Given the description of an element on the screen output the (x, y) to click on. 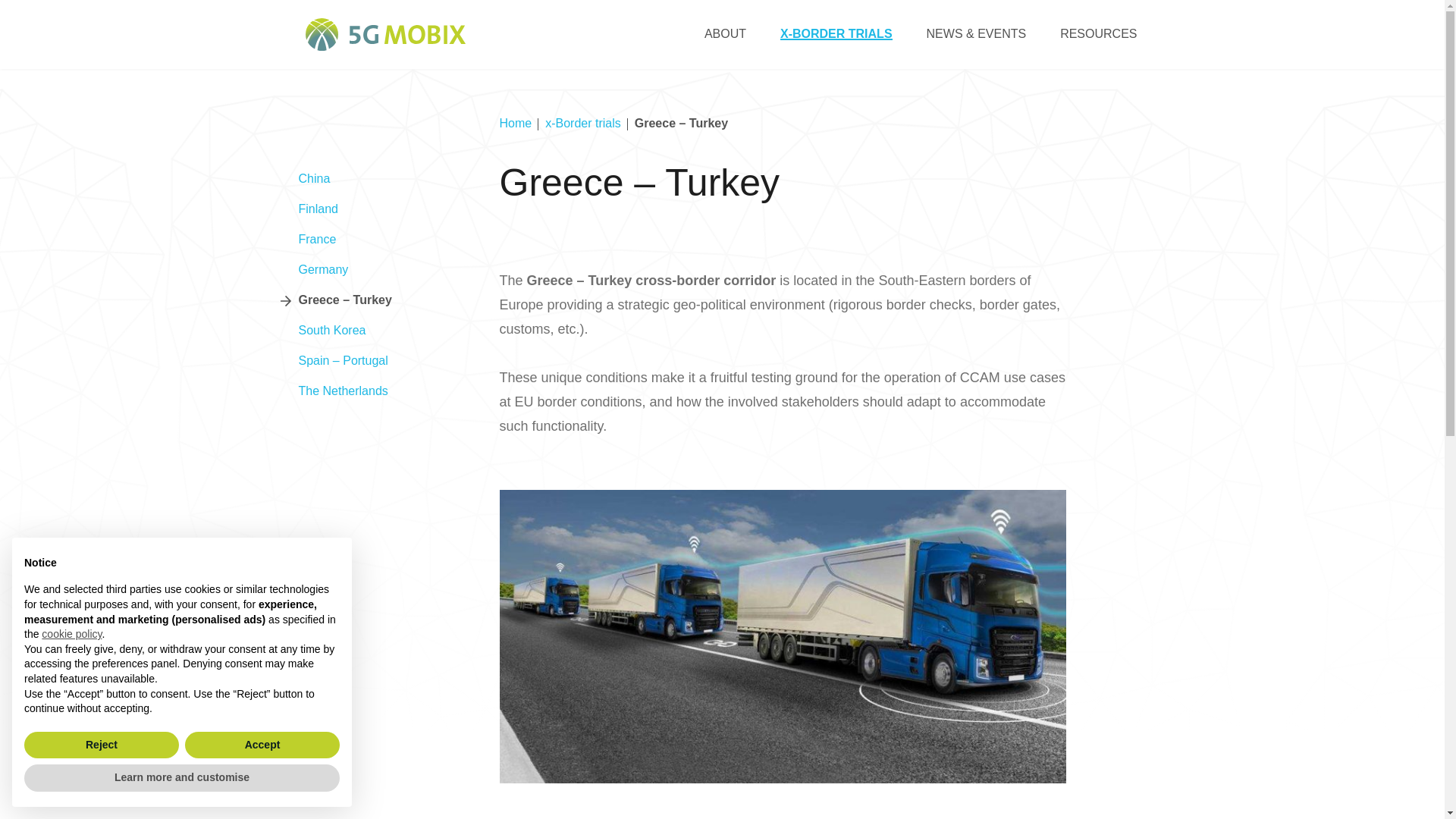
Home (515, 123)
South Korea (332, 330)
Accept (261, 745)
cookie policy (71, 633)
Learn more and customise (181, 777)
X-BORDER TRIALS (836, 33)
ABOUT (724, 33)
Reject (101, 745)
x-Border trials (582, 123)
France (317, 239)
The Netherlands (343, 390)
RESOURCES (1098, 33)
China (314, 178)
Germany (323, 269)
Finland (317, 209)
